Given the description of an element on the screen output the (x, y) to click on. 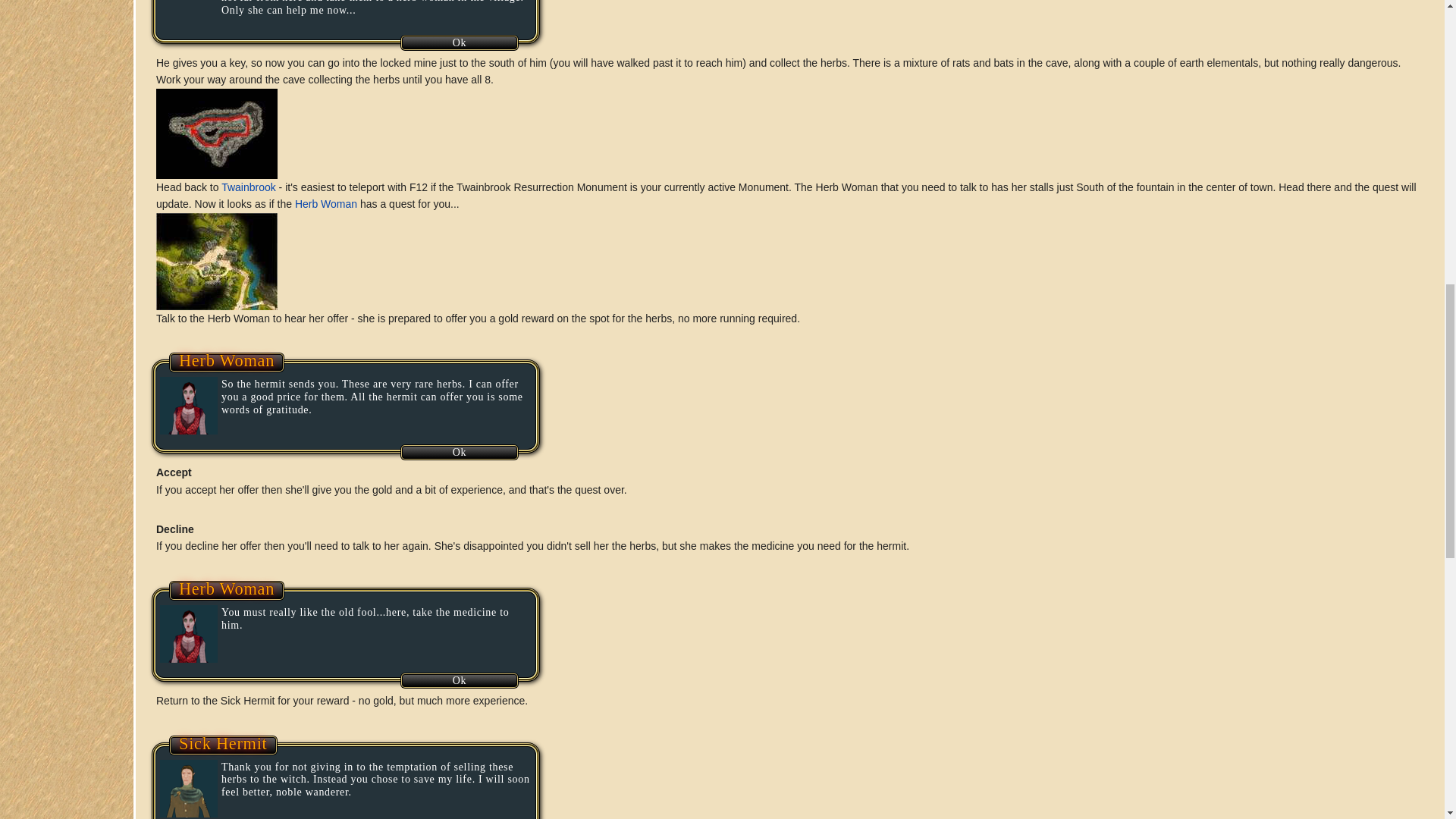
Sacred 2:Twainbrook (248, 186)
Sacred 2:Herb Woman (227, 360)
Sacred 2:Herb Woman (325, 203)
Sacred 2:Herb Woman (227, 588)
Sacred 2:Sick Hermit (223, 742)
